Given the description of an element on the screen output the (x, y) to click on. 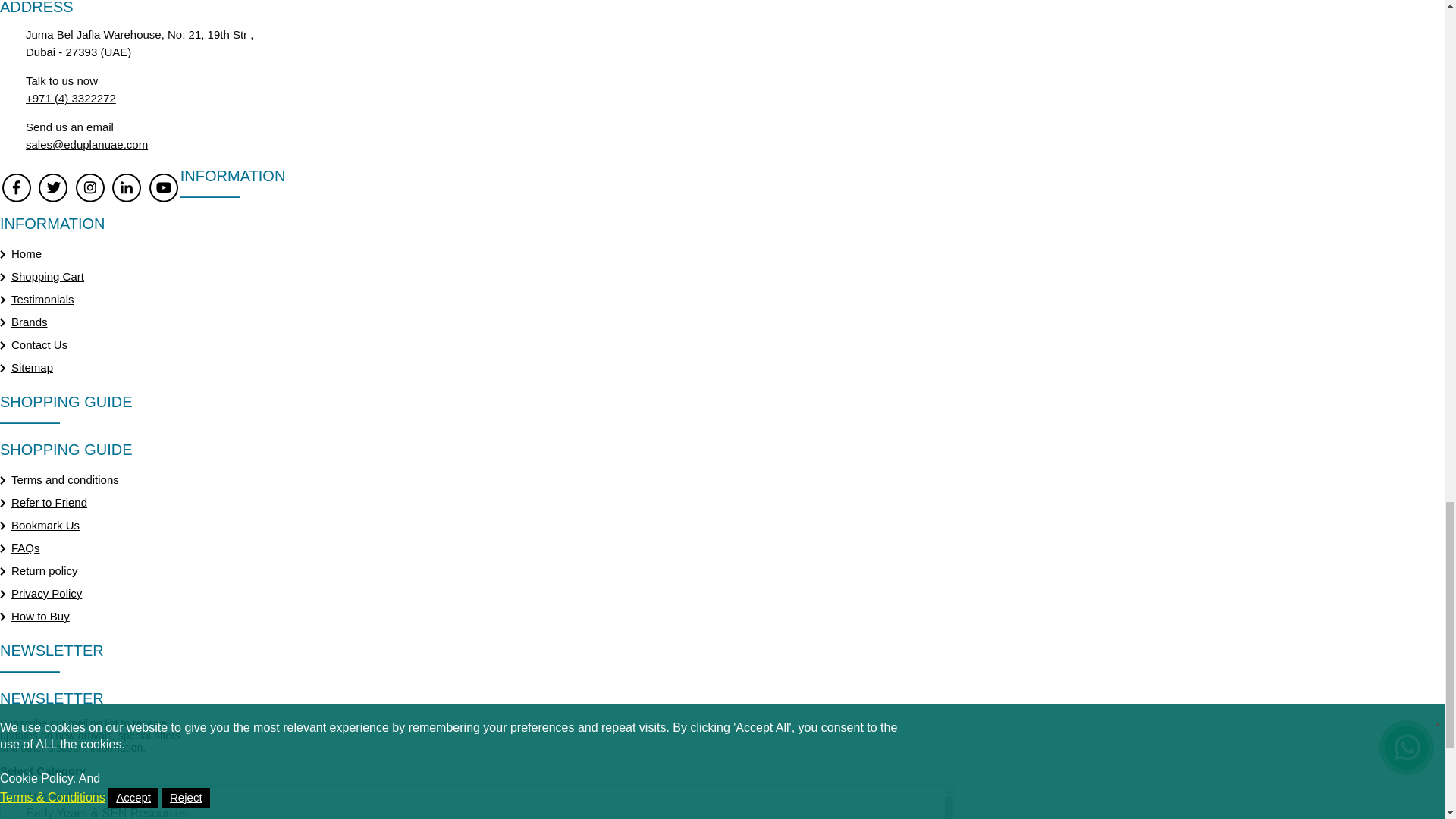
1 (12, 798)
2 (12, 814)
